Given the description of an element on the screen output the (x, y) to click on. 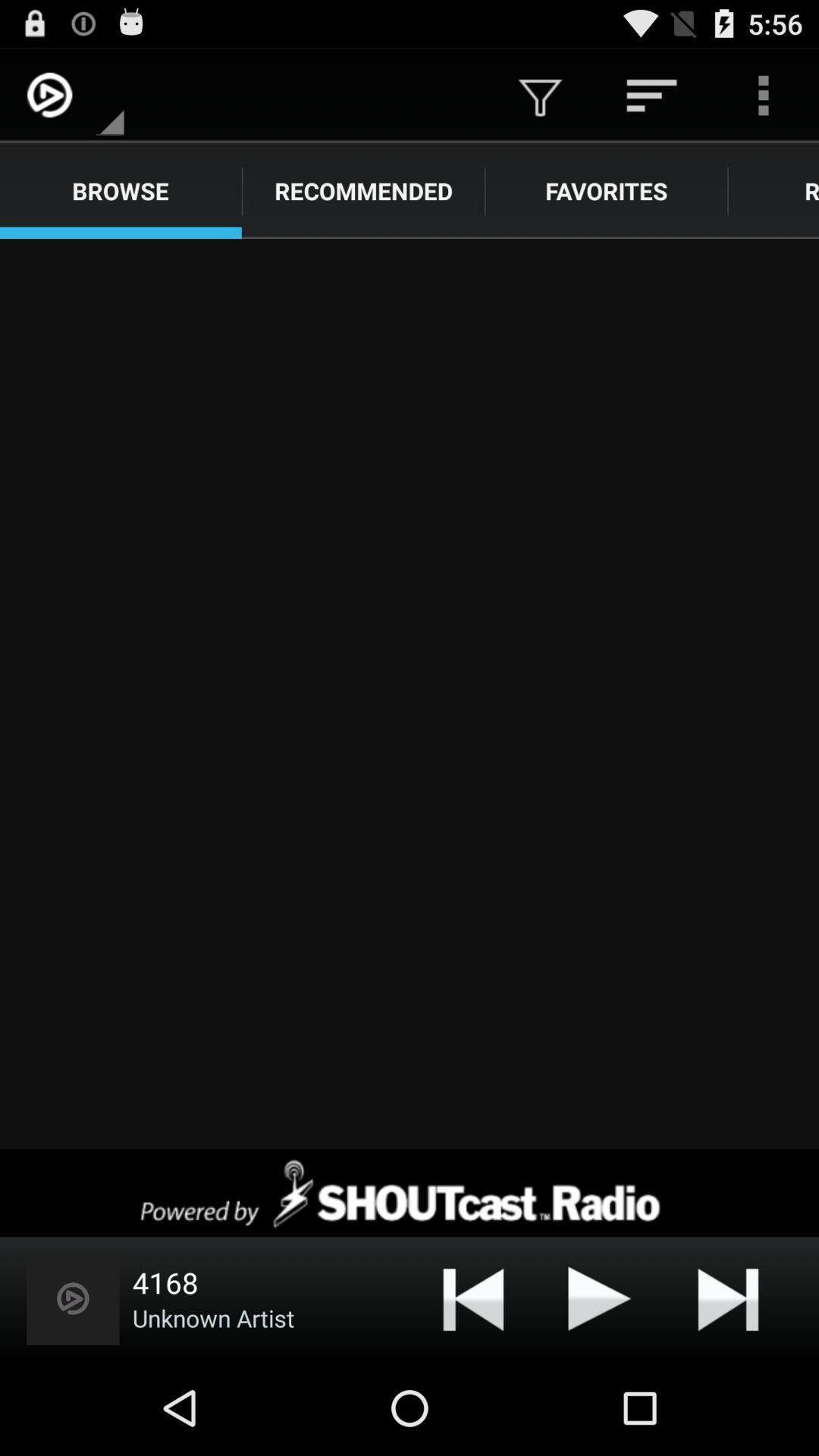
turn on app next to the 4168 item (72, 1298)
